Given the description of an element on the screen output the (x, y) to click on. 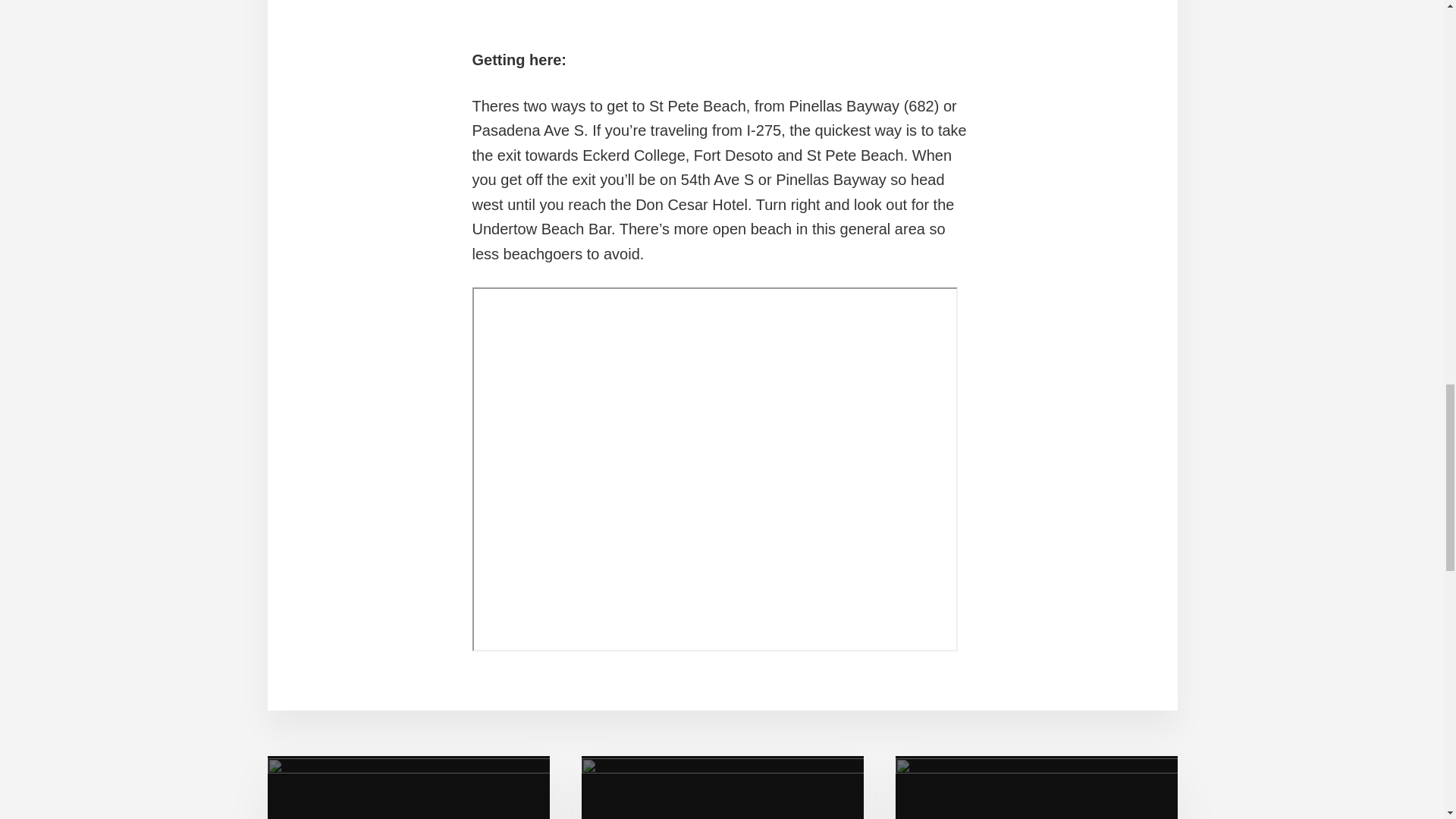
Our Policy (721, 787)
Kiteboarding Lightwind at St Pete Beach (660, 9)
Kiteboarding Lessons: All Levels Welcome (407, 787)
Mission (1035, 787)
